Given the description of an element on the screen output the (x, y) to click on. 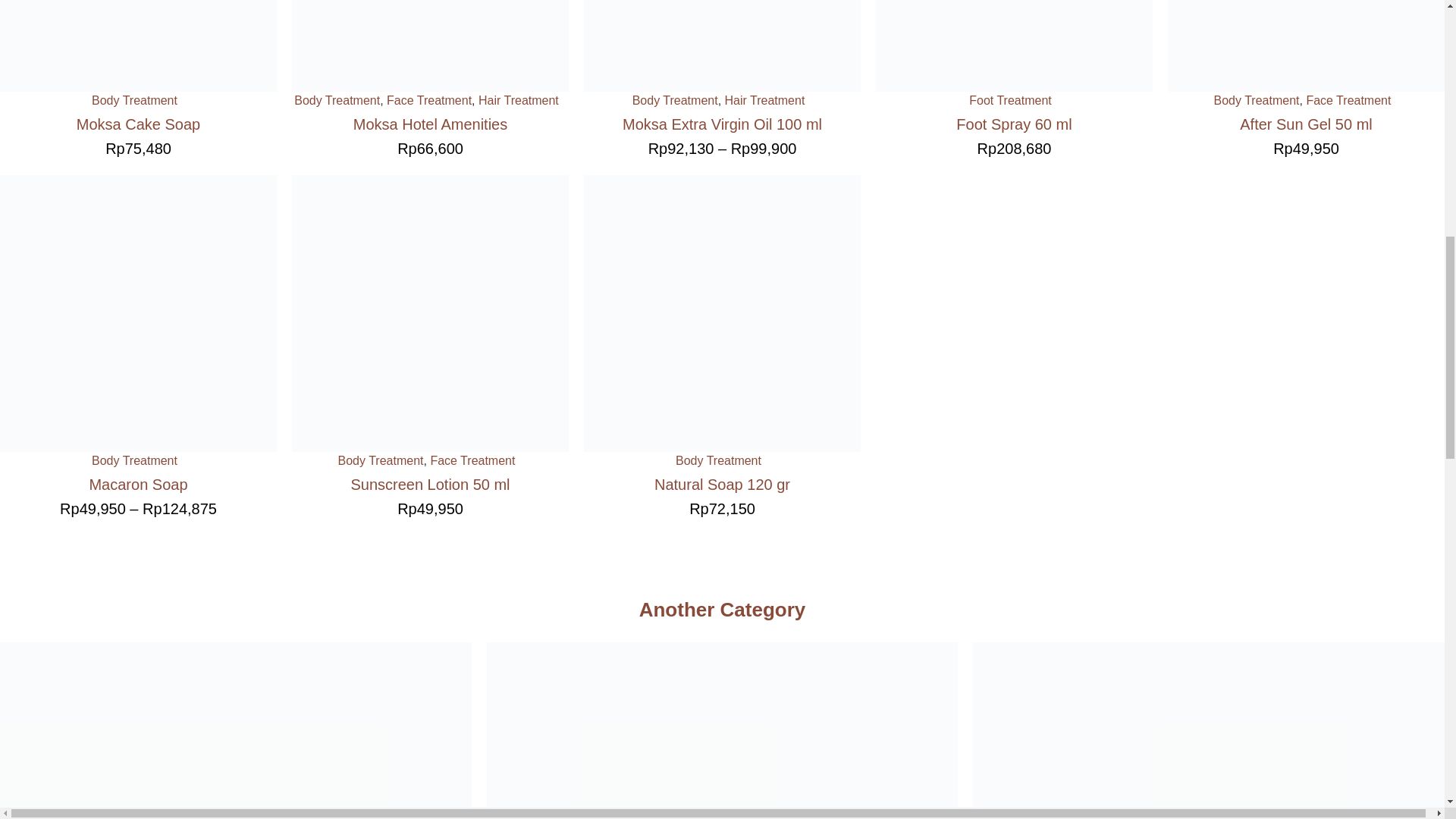
Moksa Cake Soap (138, 124)
Hair Treatment (765, 100)
Foot Treatment (1010, 100)
Face Treatment (429, 100)
Moksa Extra Virgin Oil 100 ml (722, 124)
Hair Treatment (519, 100)
Body Treatment (674, 100)
Foot Spray 60 ml (1013, 124)
Body Treatment (337, 100)
Body Treatment (134, 100)
